Given the description of an element on the screen output the (x, y) to click on. 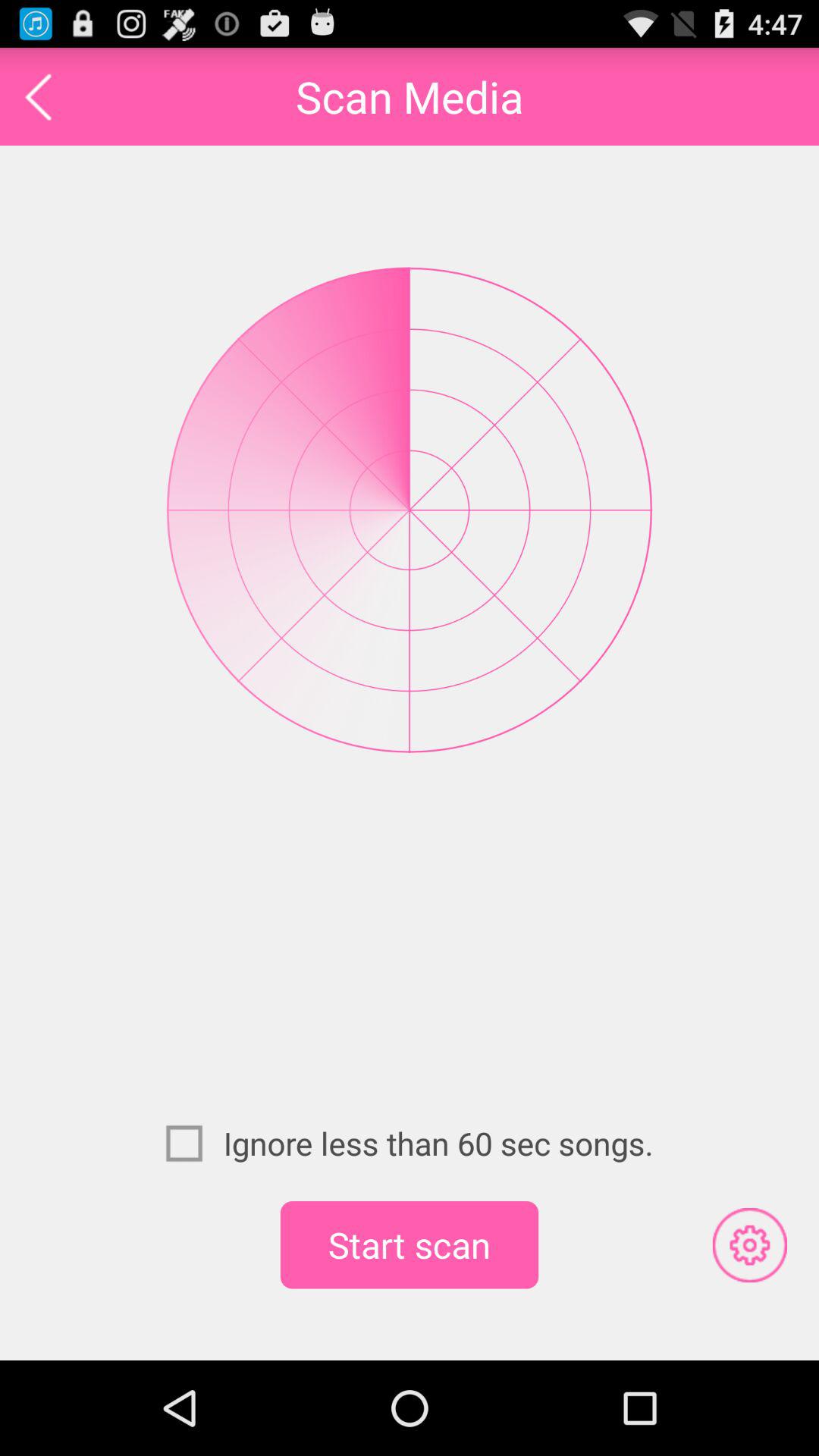
choose item next to start scan item (749, 1244)
